Given the description of an element on the screen output the (x, y) to click on. 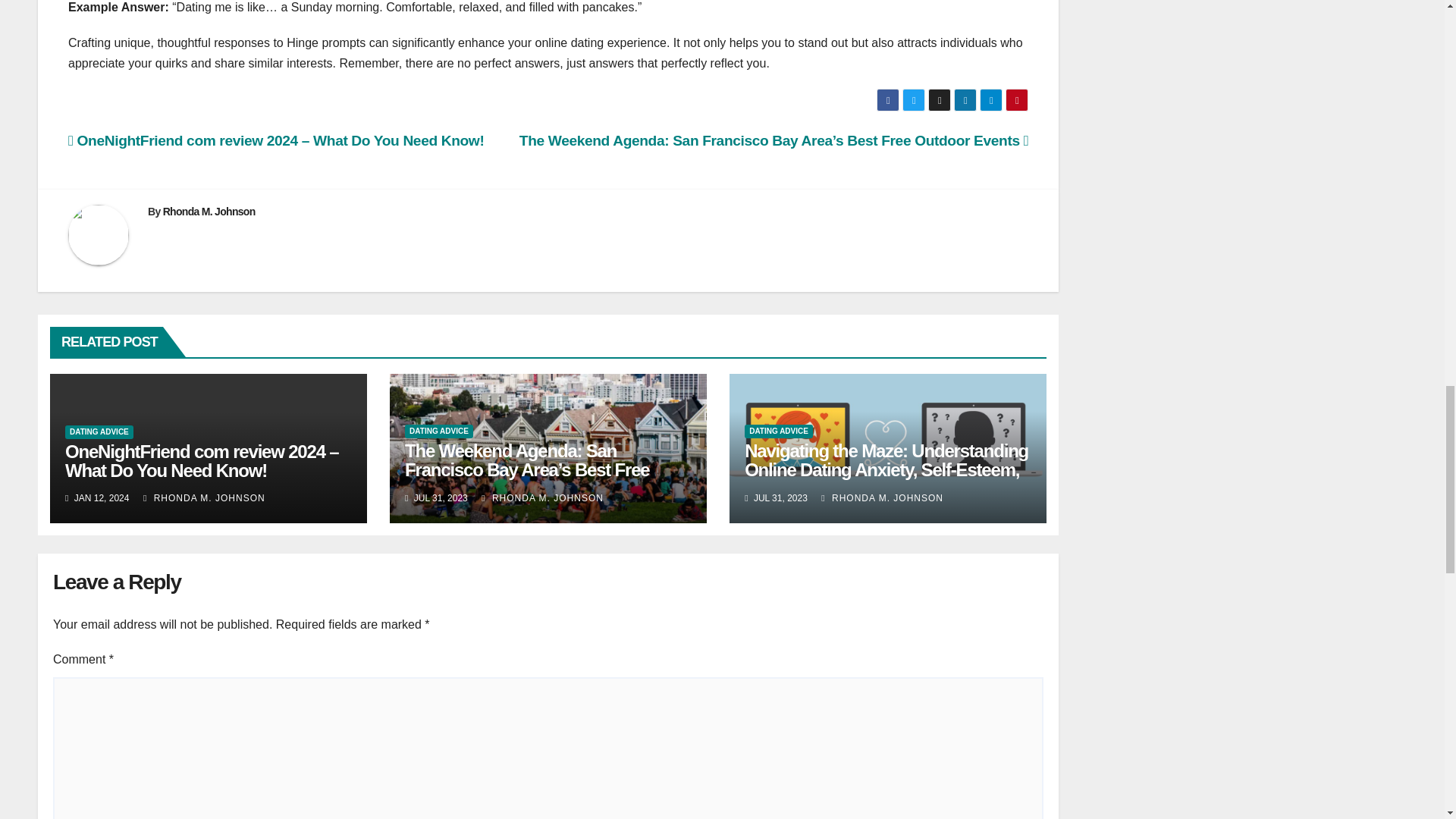
RHONDA M. JOHNSON (542, 498)
DATING ADVICE (99, 431)
DATING ADVICE (438, 431)
Rhonda M. Johnson (209, 211)
RHONDA M. JOHNSON (203, 498)
